Given the description of an element on the screen output the (x, y) to click on. 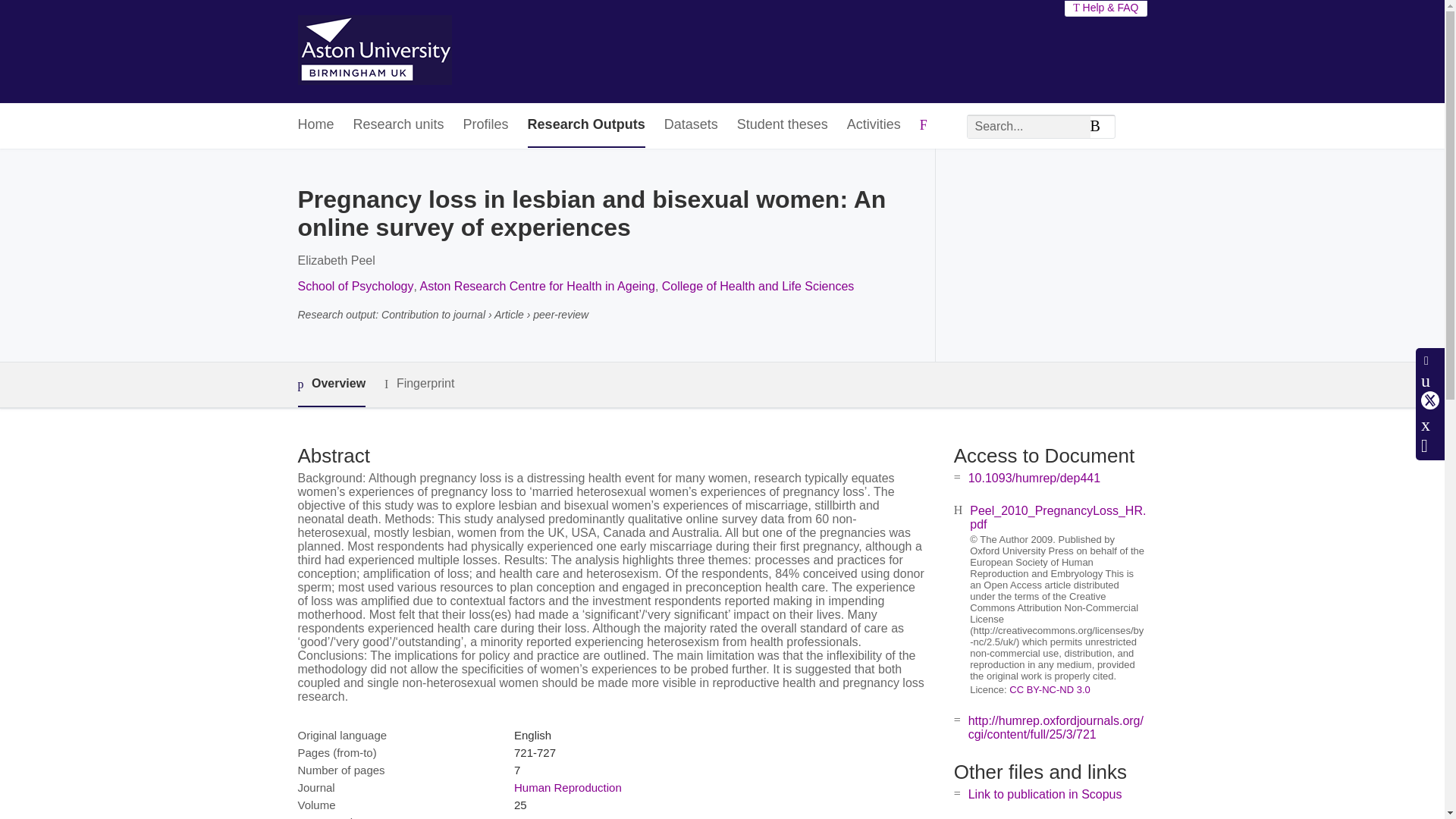
Student theses (782, 125)
Aston Research Explorer Home (374, 51)
Fingerprint (419, 383)
College of Health and Life Sciences (758, 286)
Research Outputs (586, 125)
Link to publication in Scopus (1045, 793)
Overview (331, 384)
Human Reproduction (567, 787)
Research units (398, 125)
